Given the description of an element on the screen output the (x, y) to click on. 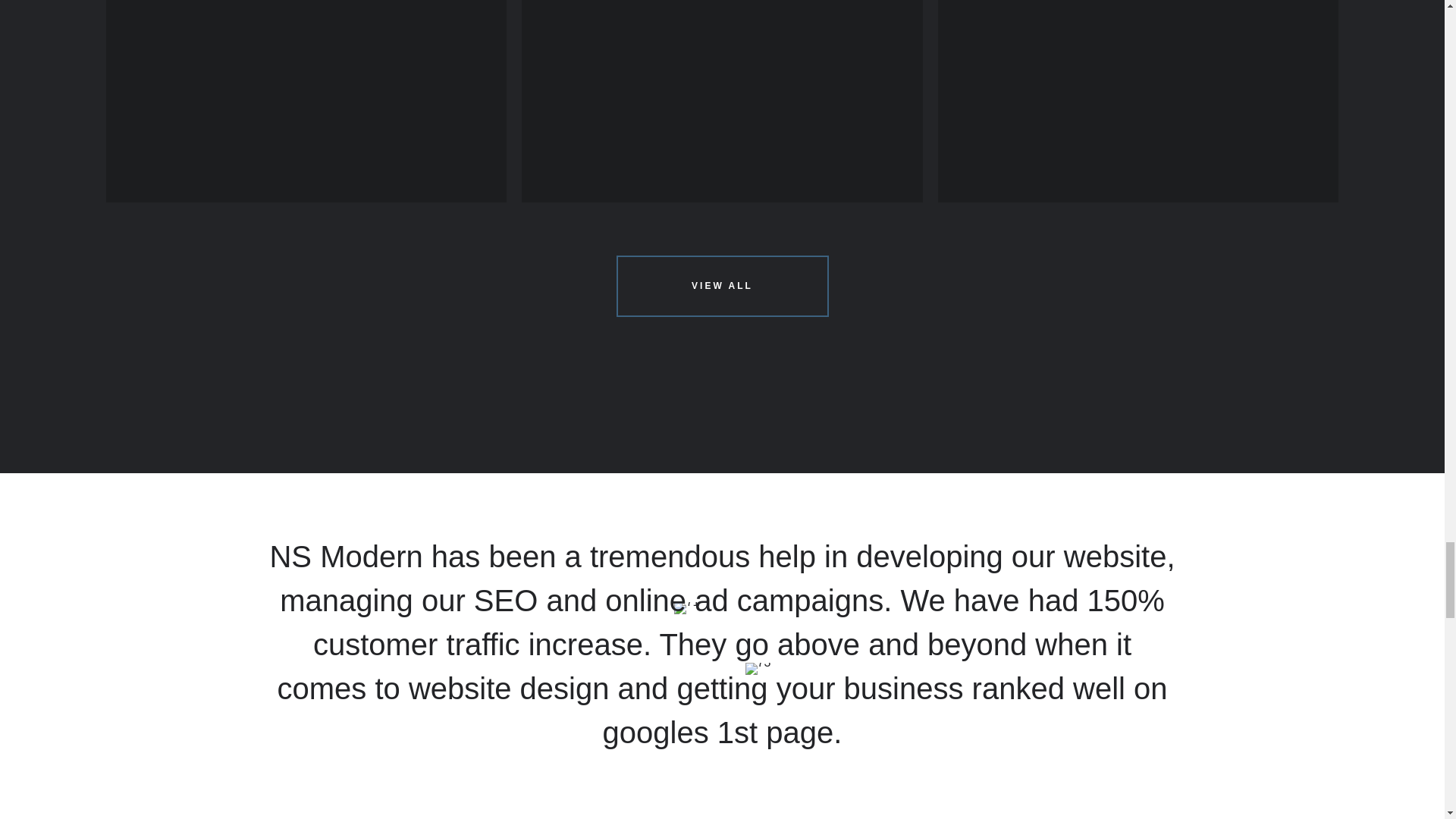
73 (757, 668)
Aura Barbers (306, 101)
VIEW ALL (721, 285)
Bodygun Pro (1137, 101)
71 (687, 607)
Hubtek (722, 101)
